Given the description of an element on the screen output the (x, y) to click on. 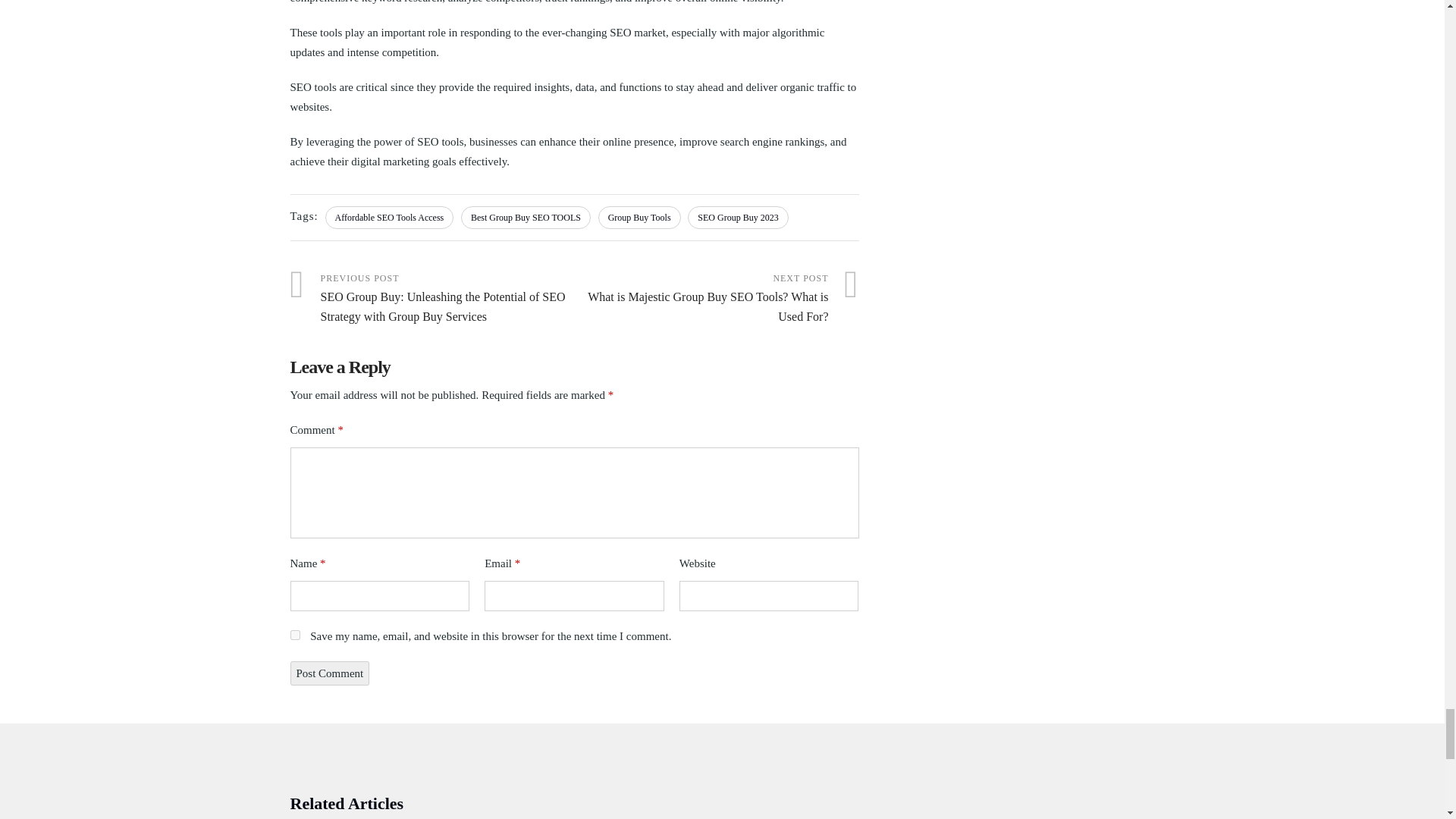
yes (294, 634)
Post Comment (329, 672)
What is Majestic Group Buy SEO Tools? What is Used For? (717, 298)
